Given the description of an element on the screen output the (x, y) to click on. 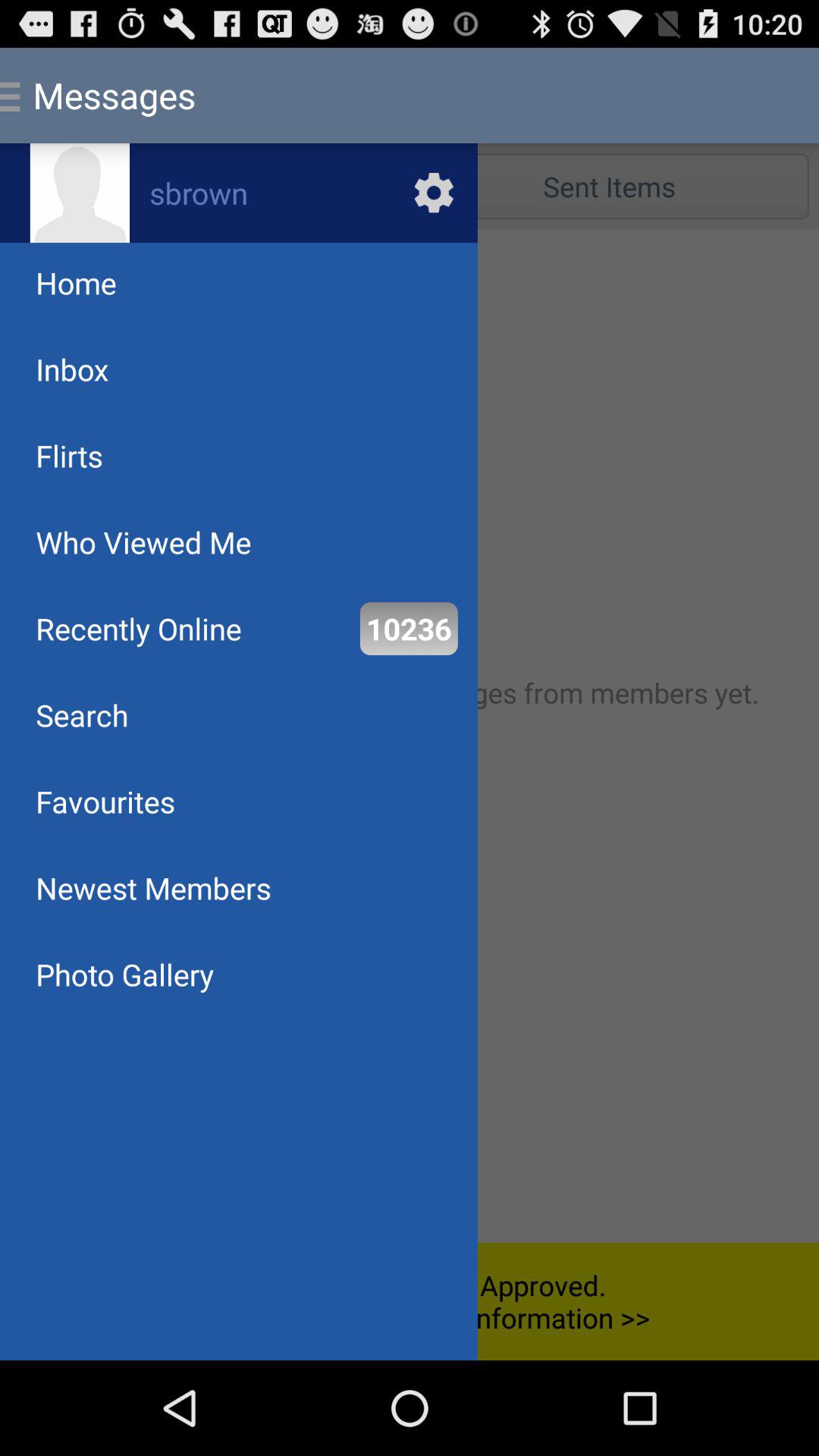
user control bar (409, 735)
